Given the description of an element on the screen output the (x, y) to click on. 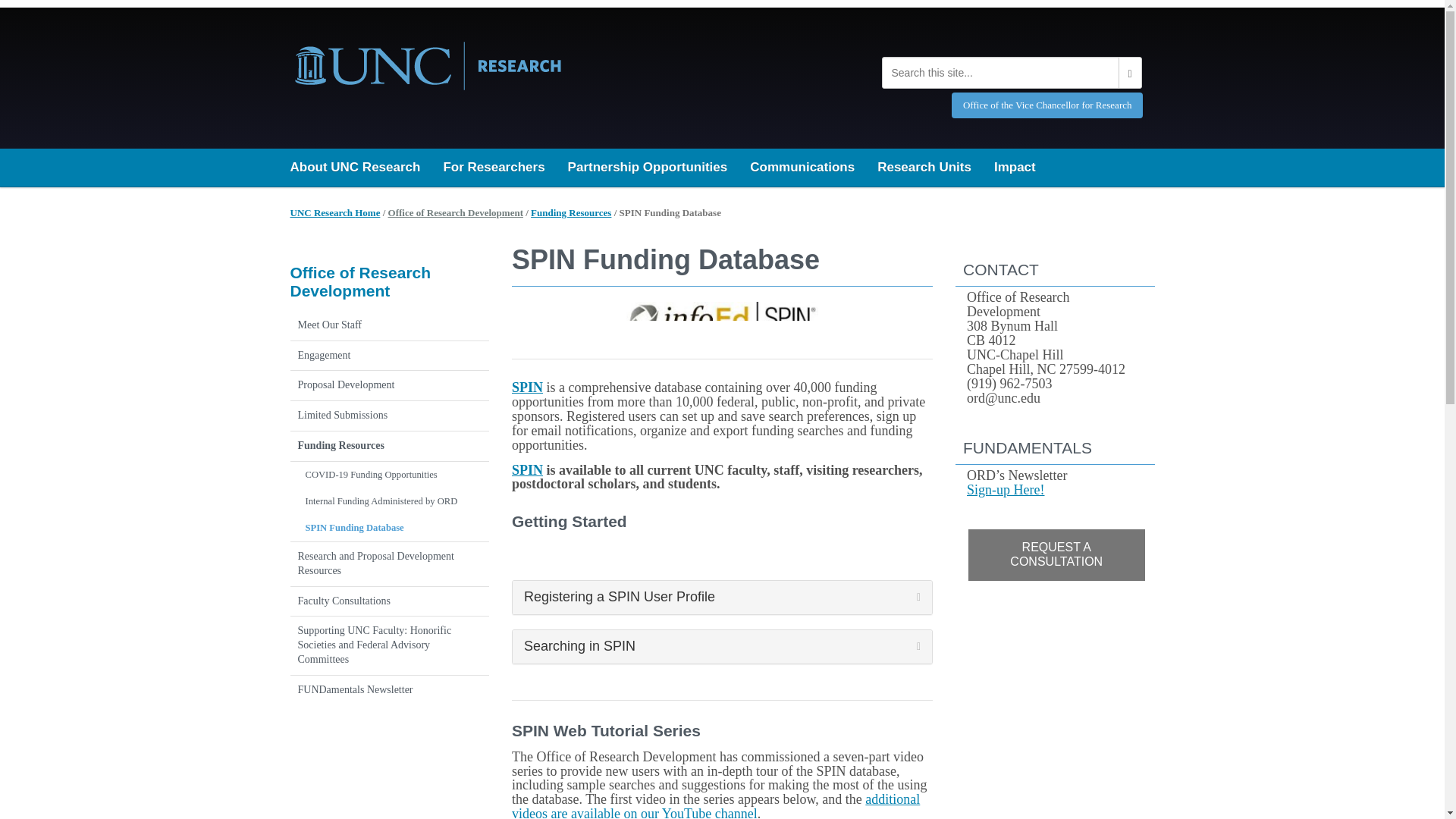
Office of Research Development (455, 212)
About UNC Research (355, 167)
Home (334, 212)
Research and Proposal Development Resources (389, 564)
UNC Research (426, 62)
COVID-19 Funding Opportunities (389, 474)
Limited Submissions (389, 416)
SPIN Funding Database (389, 528)
Proposal Development (389, 386)
Searching in SPIN (721, 646)
